Given the description of an element on the screen output the (x, y) to click on. 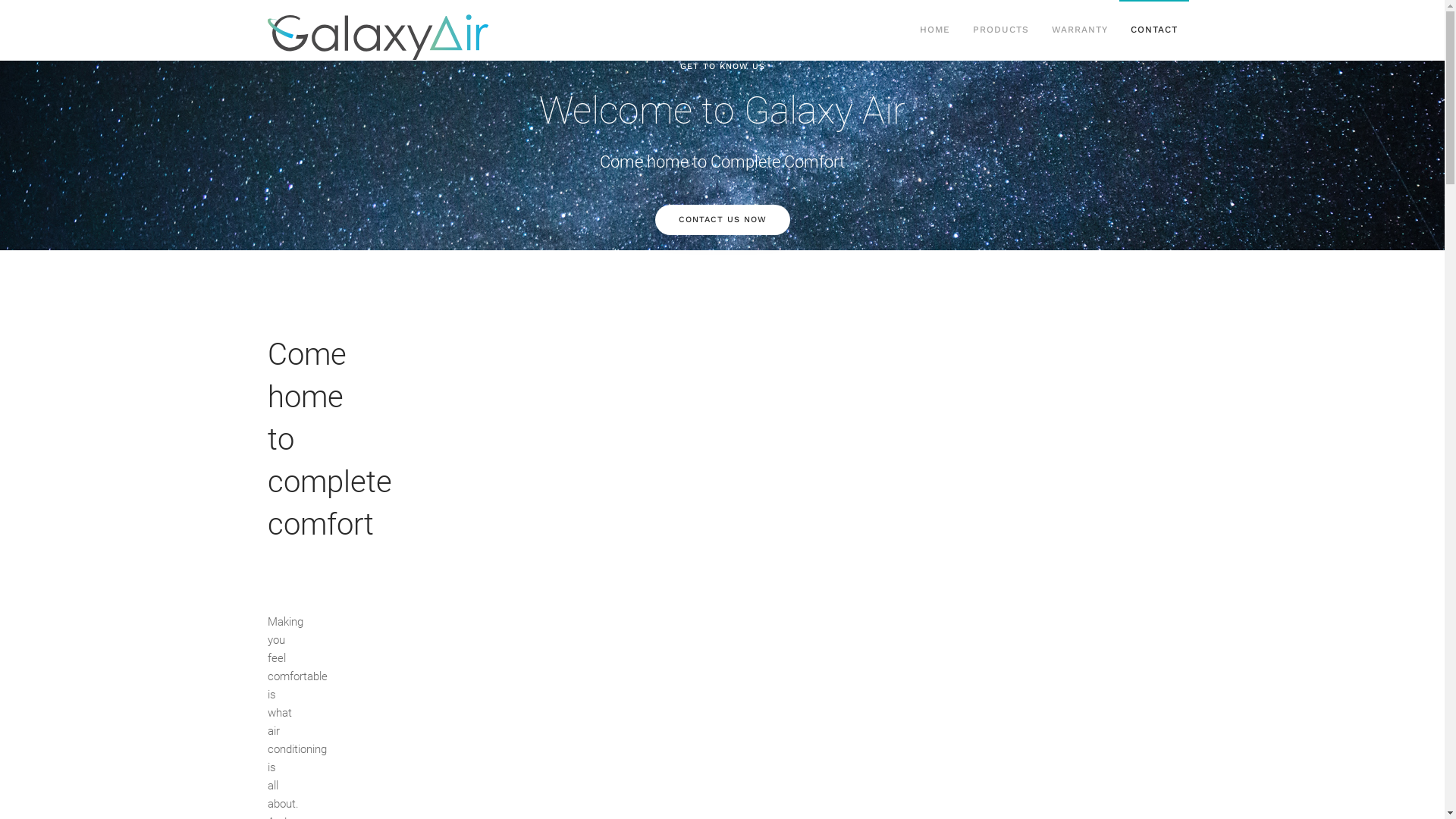
CONTACT US NOW Element type: text (722, 219)
HOME Element type: text (934, 30)
PRODUCTS Element type: text (1000, 30)
WARRANTY Element type: text (1079, 30)
CONTACT Element type: text (1154, 30)
